Given the description of an element on the screen output the (x, y) to click on. 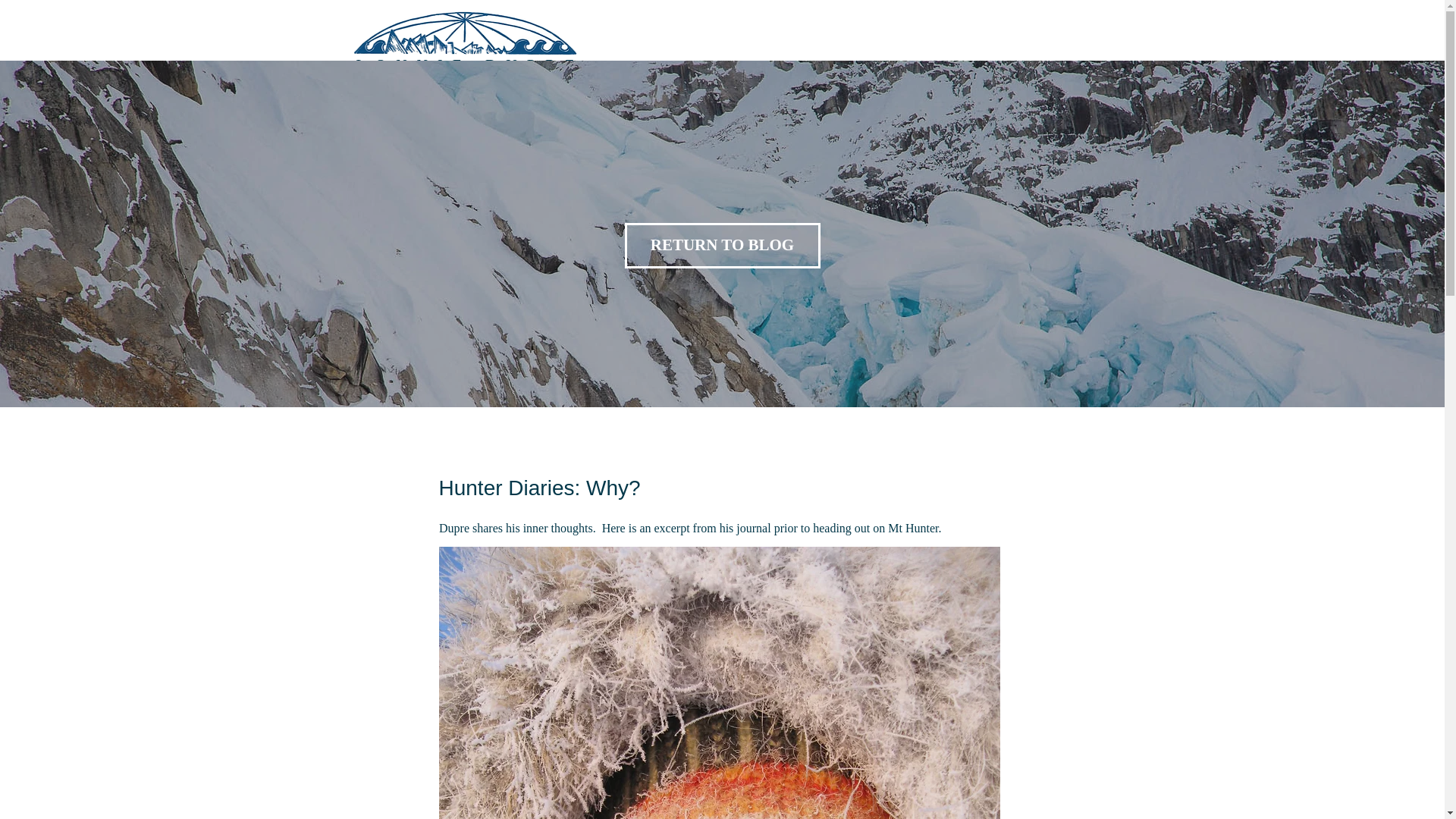
Edited Image 2013-5-31-11:32:34 (464, 33)
CONTACT (1059, 65)
HOME (624, 65)
EXPEDITIONS (827, 65)
STORE (987, 65)
LONNIE DUPRE (470, 64)
ABOUT (687, 65)
BLOG (748, 65)
SPEAKING (916, 65)
RETURN TO BLOG (722, 245)
